Given the description of an element on the screen output the (x, y) to click on. 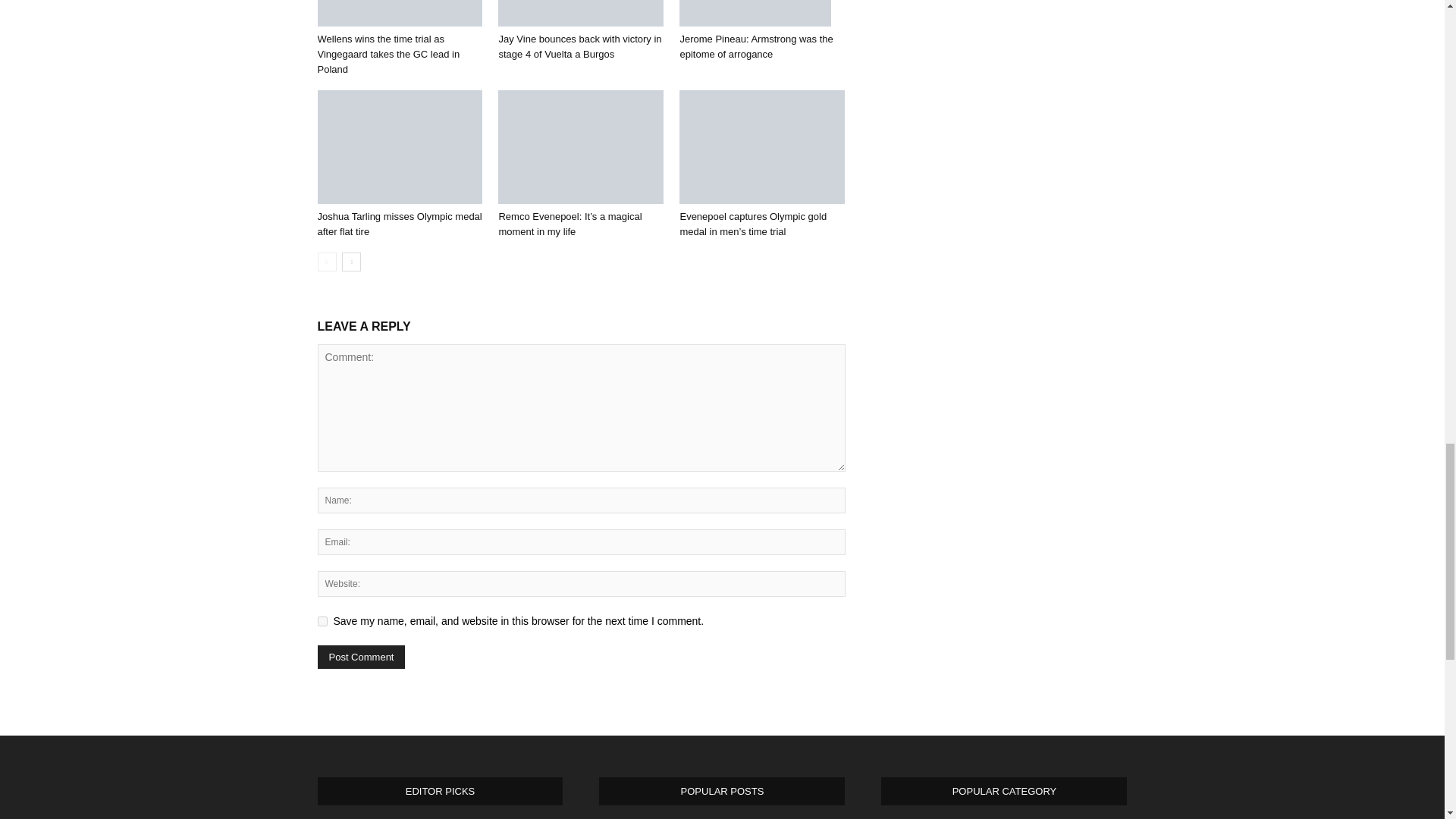
yes (321, 621)
Post Comment (360, 657)
Jerome Pineau: Armstrong was the epitome of arrogance (755, 13)
Jerome Pineau: Armstrong was the epitome of arrogance (761, 13)
